Given the description of an element on the screen output the (x, y) to click on. 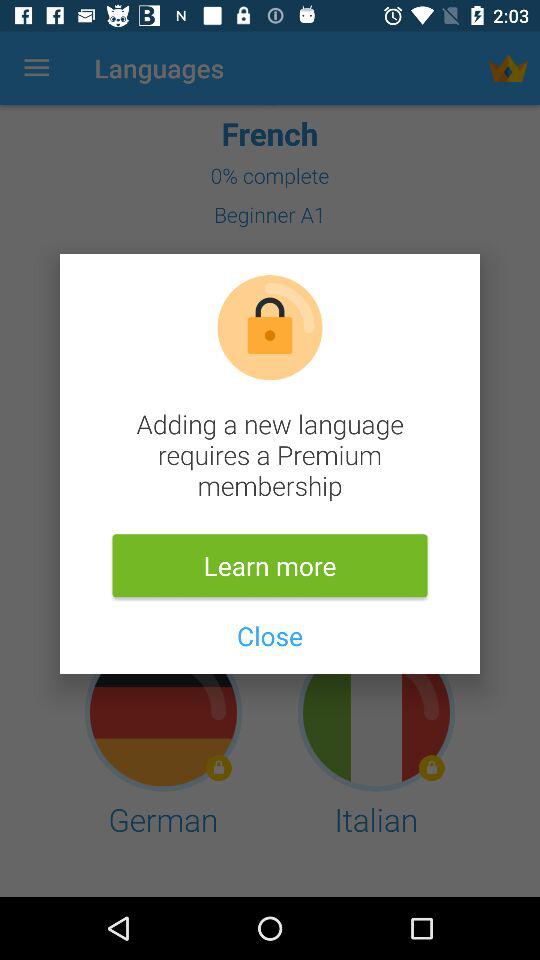
press close item (269, 635)
